Given the description of an element on the screen output the (x, y) to click on. 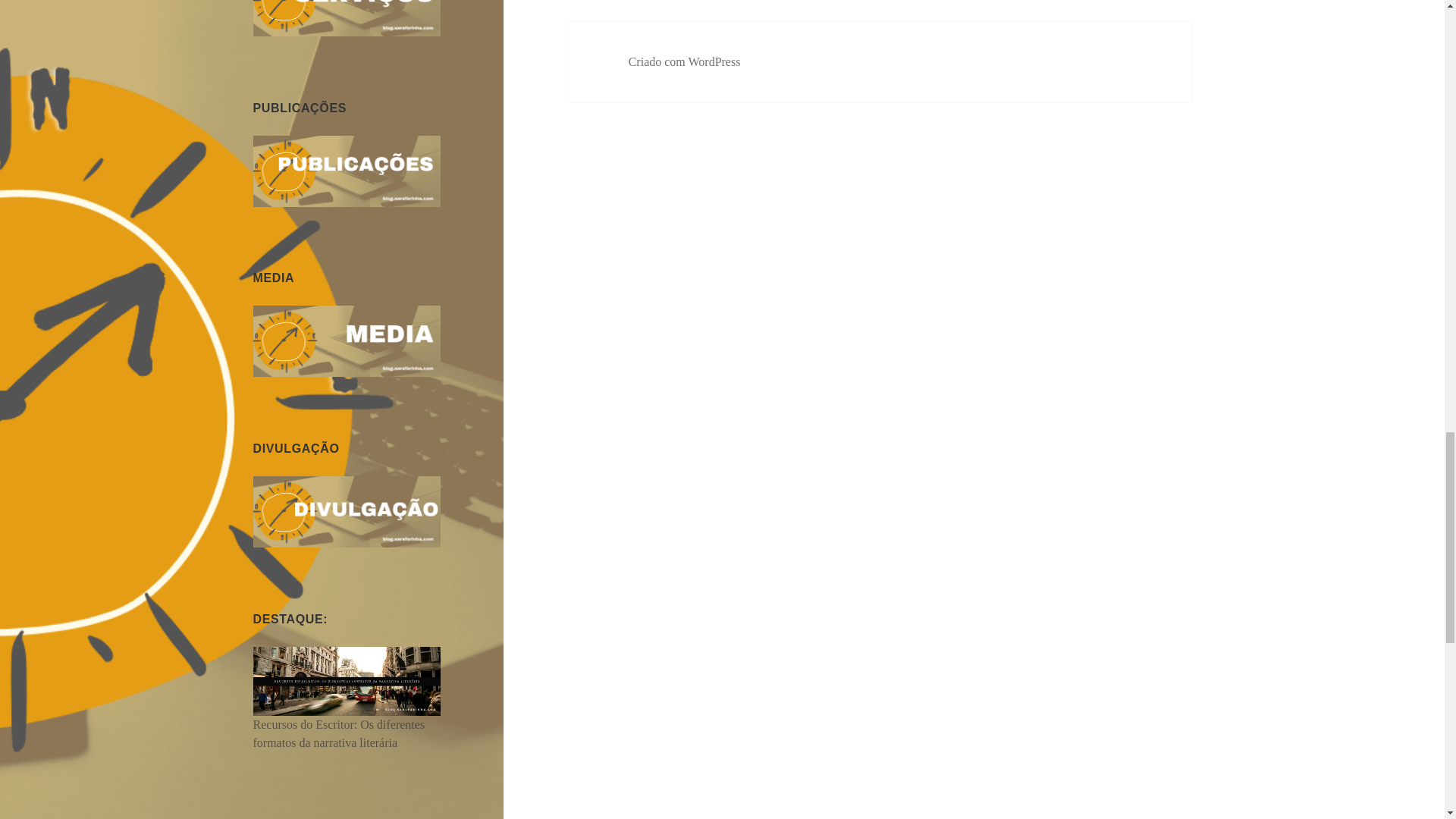
Destaque: (347, 679)
Media (347, 339)
